Given the description of an element on the screen output the (x, y) to click on. 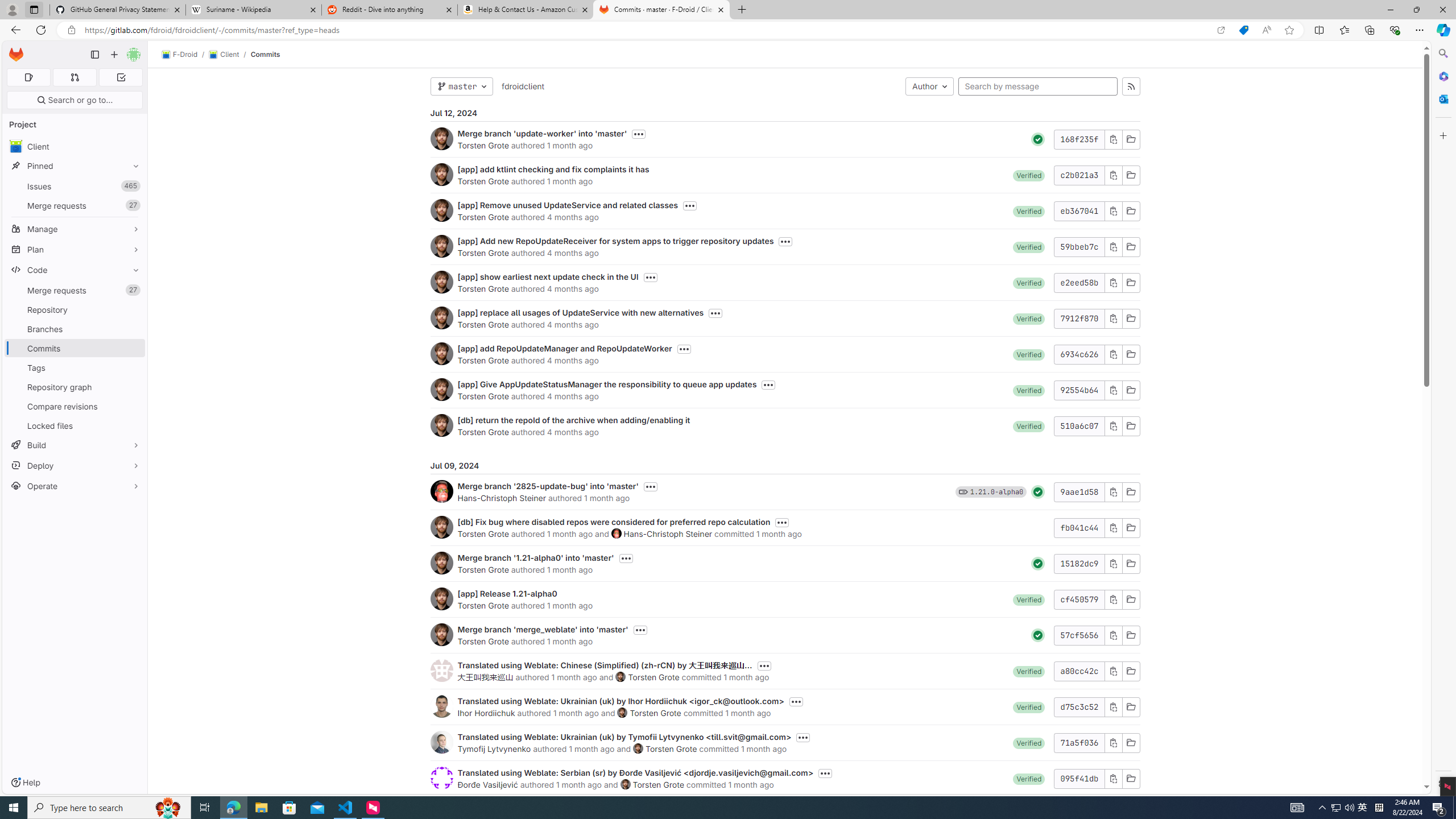
Deploy (74, 465)
Close Outlook pane (1442, 98)
Jul 12, 2024 (784, 113)
Assigned issues 0 (28, 76)
Locked files (74, 425)
Operate (74, 485)
Copy commit SHA (1112, 778)
To-Do list 0 (120, 76)
Manage (74, 228)
[app] add RepoUpdateManager and RepoUpdateWorker (564, 347)
Ihor Hordiichuk (486, 712)
Author (929, 85)
Class: s24 gl-icon (1037, 635)
